Given the description of an element on the screen output the (x, y) to click on. 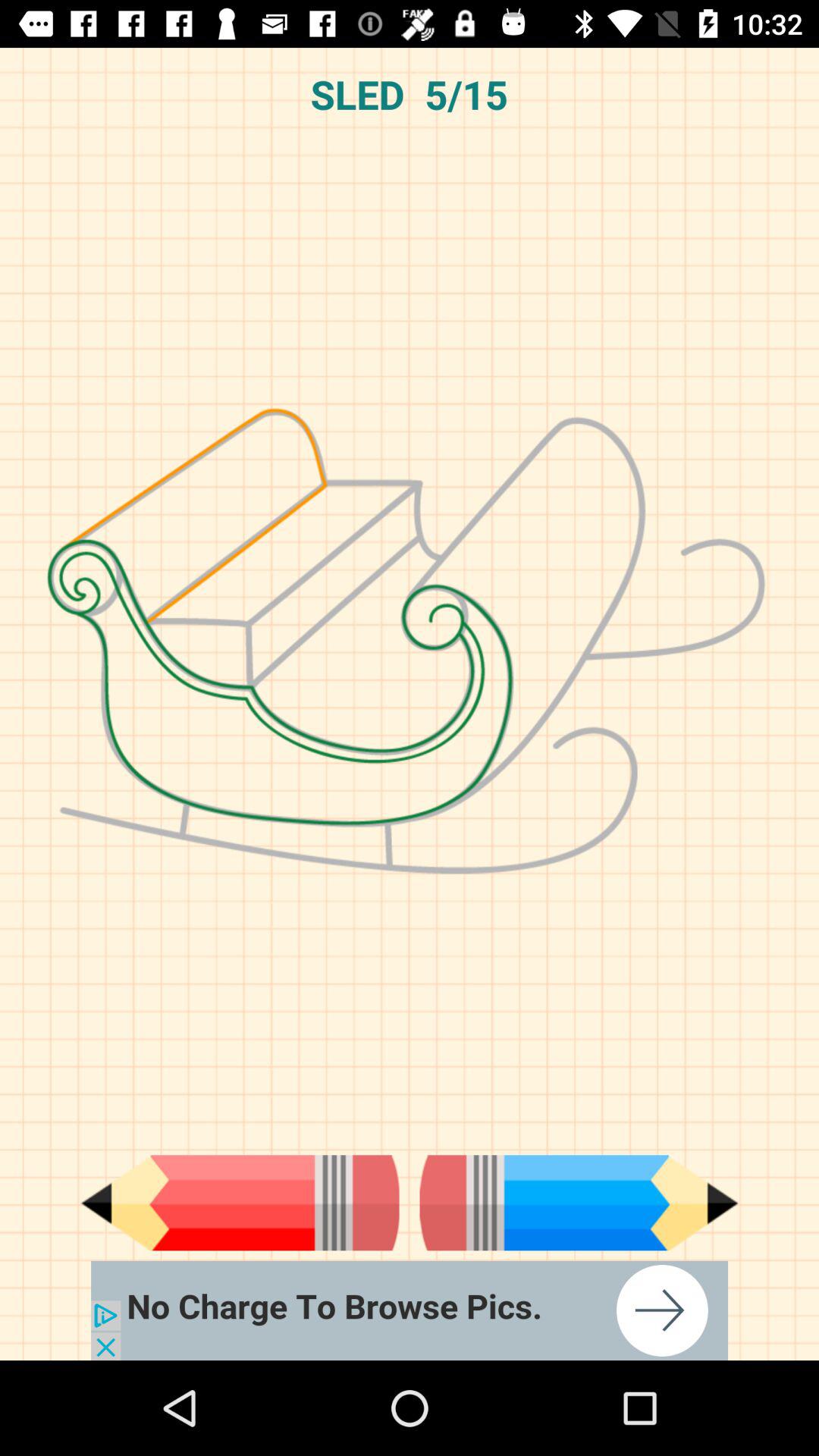
pick this pencil (578, 1202)
